Given the description of an element on the screen output the (x, y) to click on. 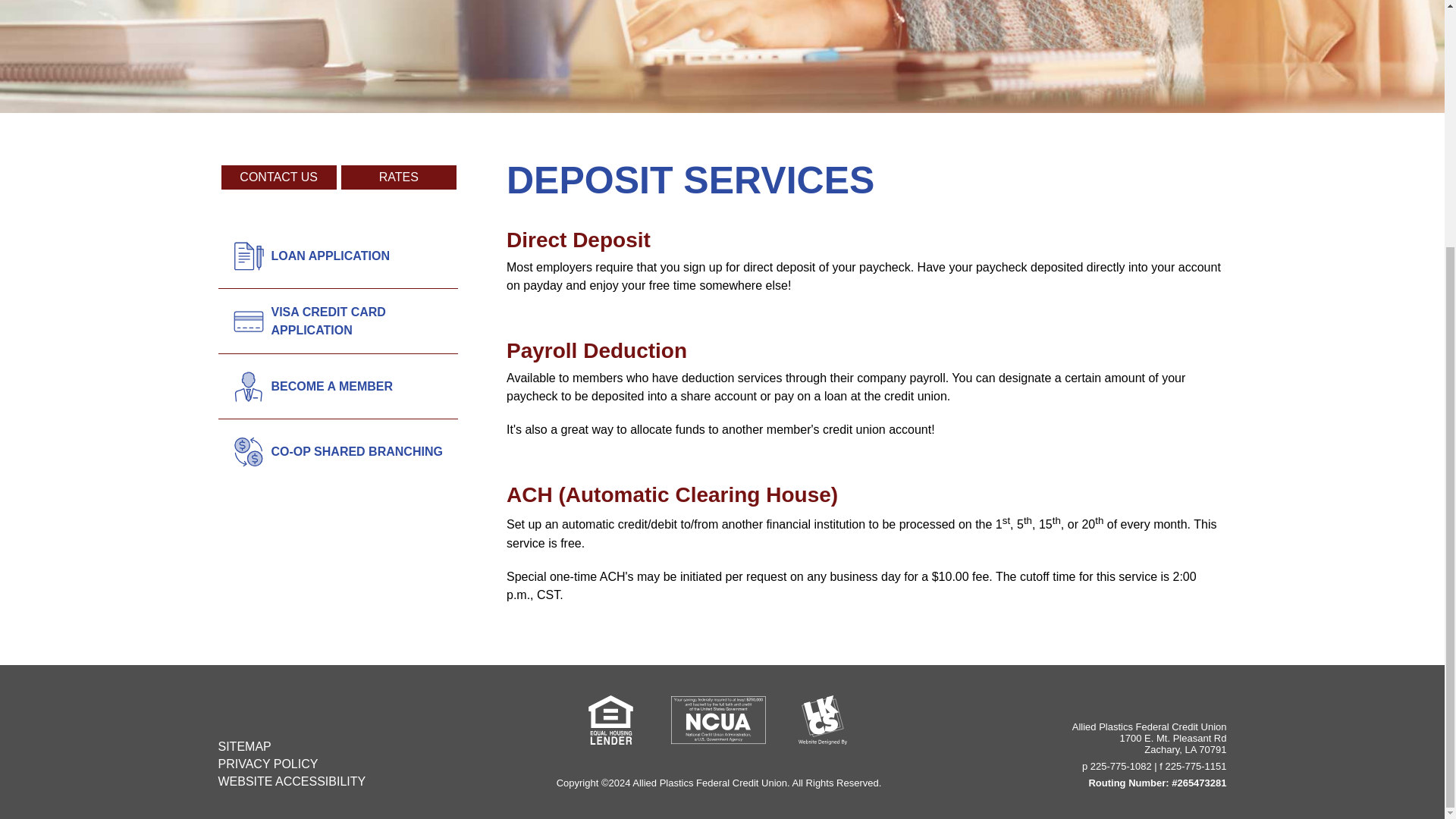
Equal Housing Lender (610, 719)
LOAN APPLICATION (357, 256)
RATES (398, 177)
CONTACT US (278, 177)
National Credit Union Administration (718, 719)
LKCS (822, 719)
VISA CREDIT CARD APPLICATION (357, 321)
